Given the description of an element on the screen output the (x, y) to click on. 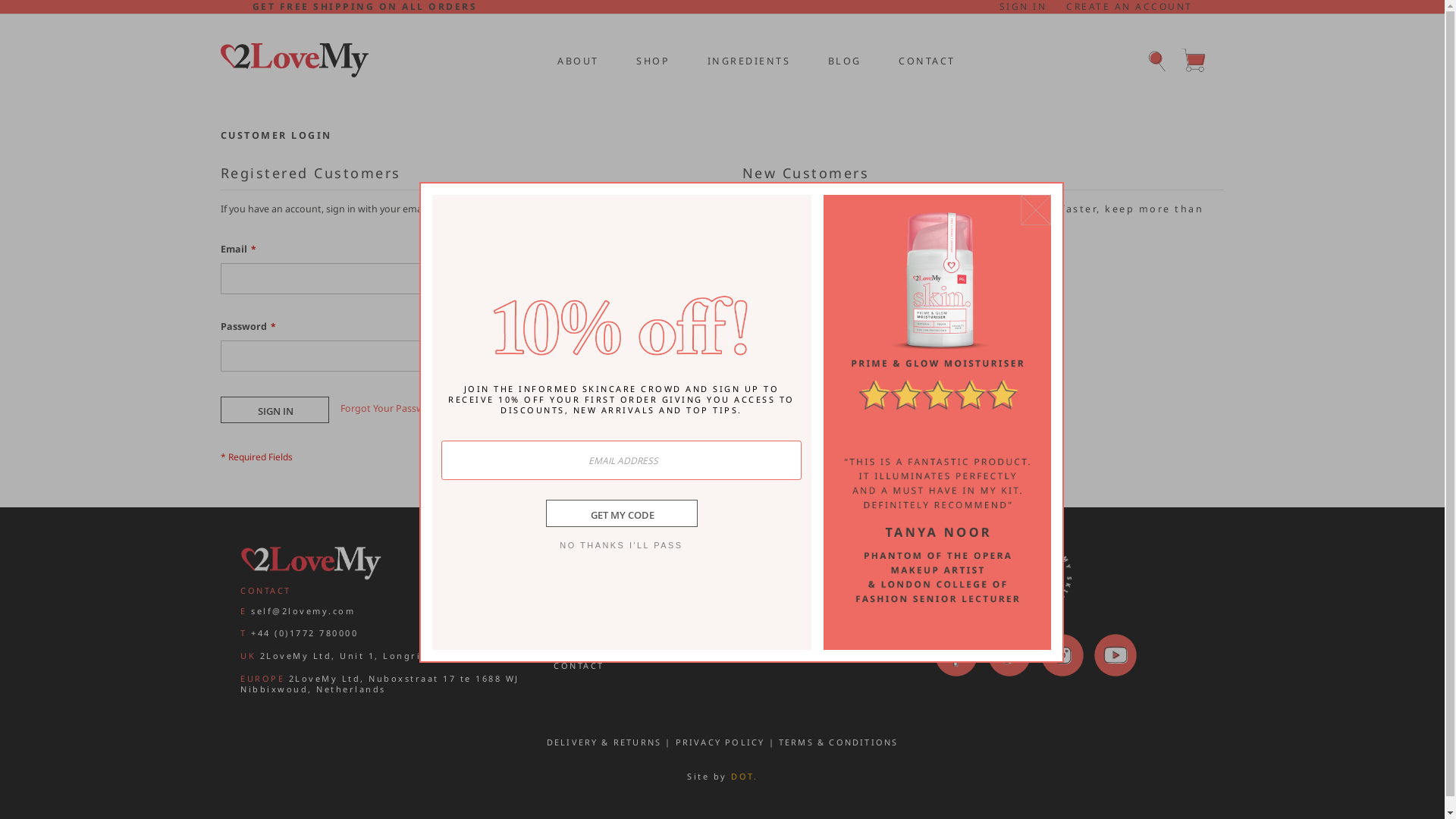
self@2lovemy.com Element type: text (302, 610)
SHOP Element type: text (568, 628)
SIGN IN Element type: text (1023, 6)
INGREDIENTS Element type: text (590, 646)
Twitter Element type: text (1009, 654)
Instagram Element type: text (1062, 654)
CREATE AN ACCOUNT Element type: text (822, 265)
CONTACT Element type: text (925, 59)
INGREDIENTS Element type: text (746, 59)
ABOUT Element type: text (572, 610)
Password Element type: hover (352, 355)
SIGN IN Element type: text (274, 409)
Site by DOT. Element type: text (722, 775)
CONTACT Element type: text (578, 665)
DELIVERY & RETURNS Element type: text (603, 741)
Email Element type: hover (352, 278)
CREATE AN ACCOUNT Element type: text (1129, 6)
GET MY CODE Element type: text (621, 513)
TERMS & CONDITIONS Element type: text (837, 741)
Forgot Your Password? Element type: text (391, 408)
+44 (0)1772 780000 Element type: text (304, 632)
SHOP Element type: text (651, 59)
PRIVACY POLICY Element type: text (720, 741)
Facebook Element type: text (956, 654)
ABOUT Element type: text (576, 59)
BLOG Element type: text (843, 59)
You Tube Element type: text (1115, 654)
